Given the description of an element on the screen output the (x, y) to click on. 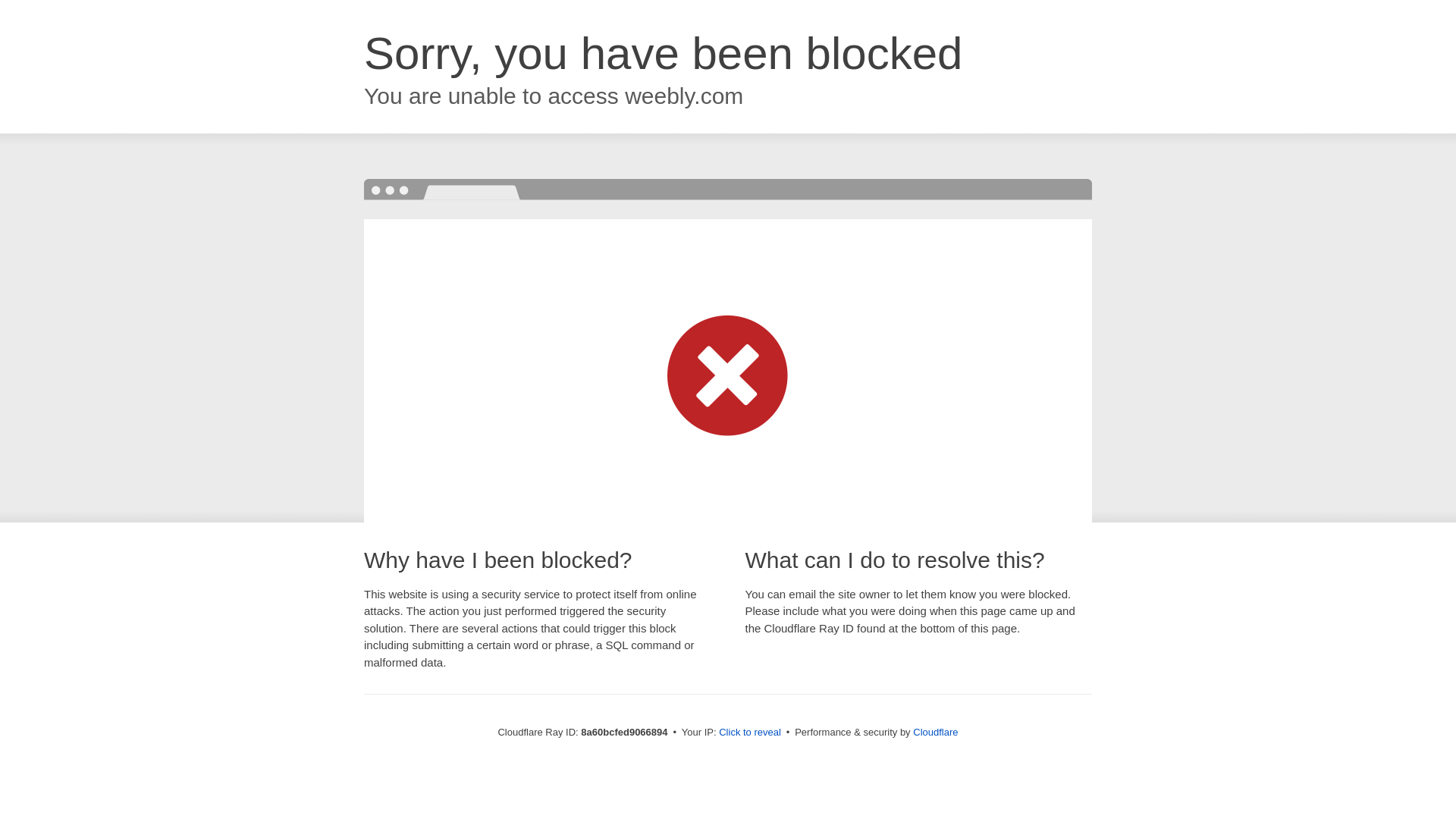
Click to reveal (749, 732)
Cloudflare (935, 731)
